Given the description of an element on the screen output the (x, y) to click on. 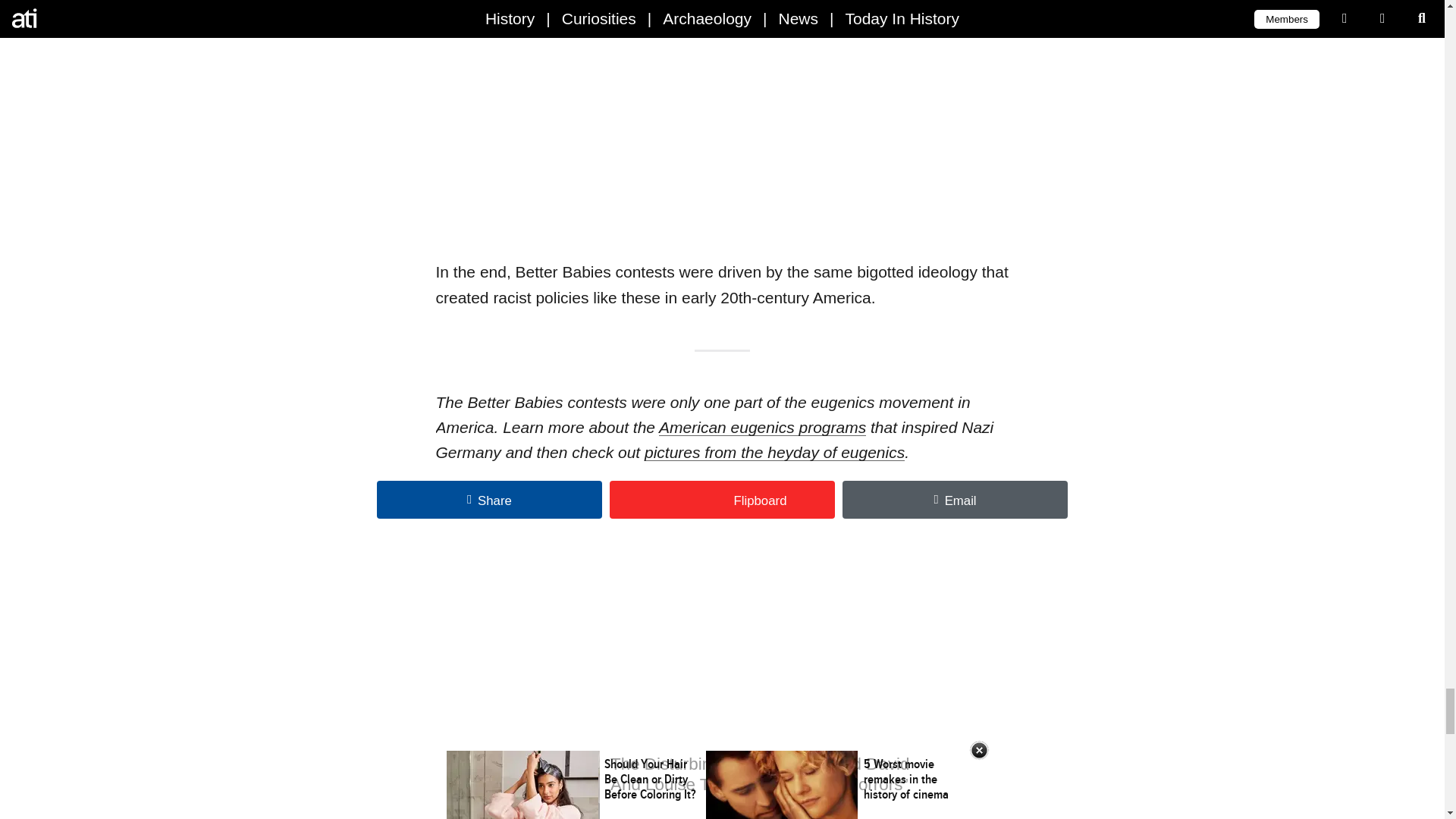
Share (489, 499)
Email (955, 499)
3rd party ad content (721, 691)
American eugenics programs (762, 426)
pictures from the heyday of eugenics (774, 452)
Flipboard (722, 499)
